Given the description of an element on the screen output the (x, y) to click on. 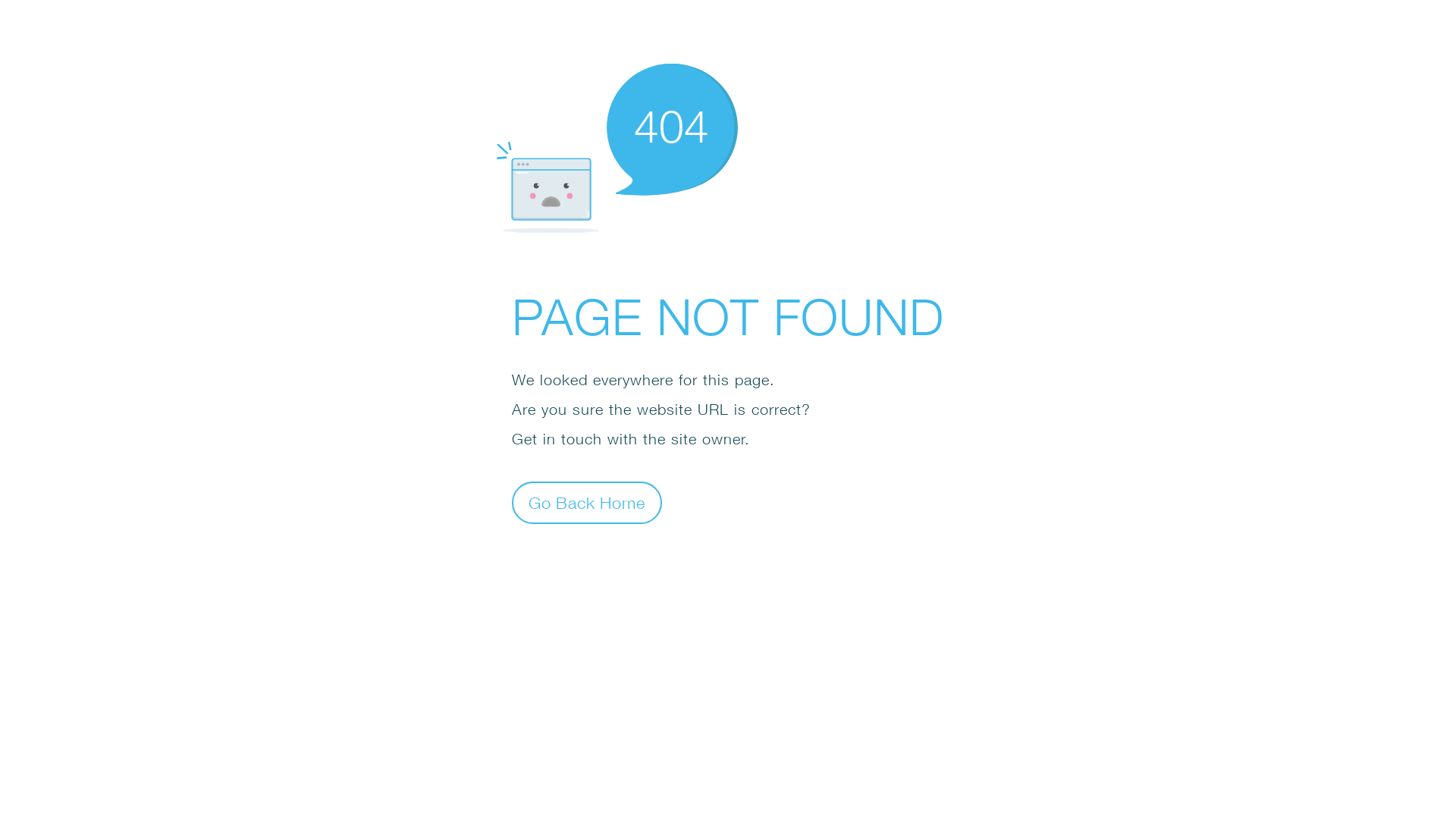
Go Back Home Element type: text (586, 502)
